Given the description of an element on the screen output the (x, y) to click on. 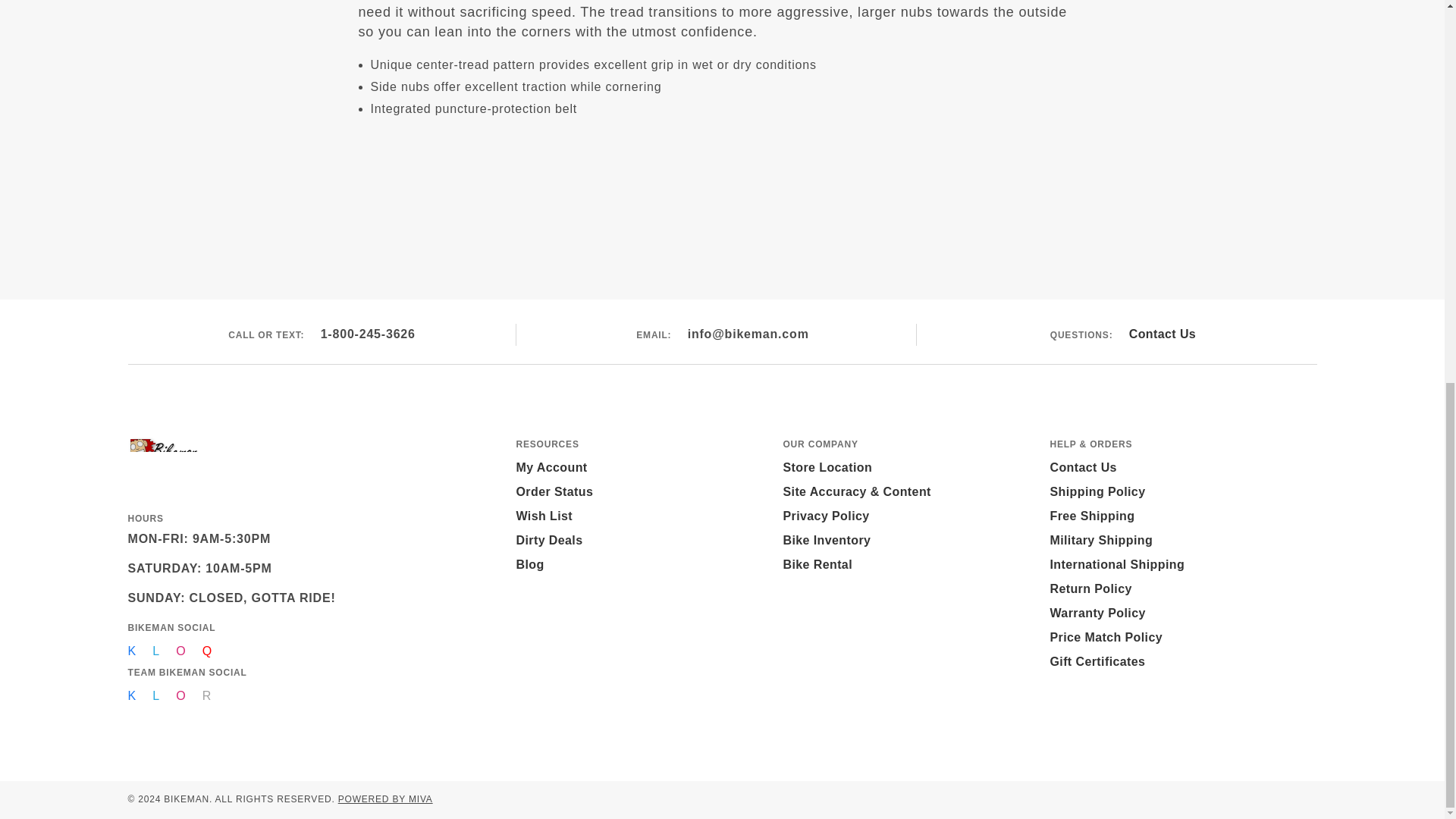
Flickr (206, 695)
YouTube (207, 650)
Twitter (156, 650)
Facebook (131, 650)
Instagram (181, 650)
Twitter (156, 695)
Instagram (181, 695)
Facebook (131, 695)
